Given the description of an element on the screen output the (x, y) to click on. 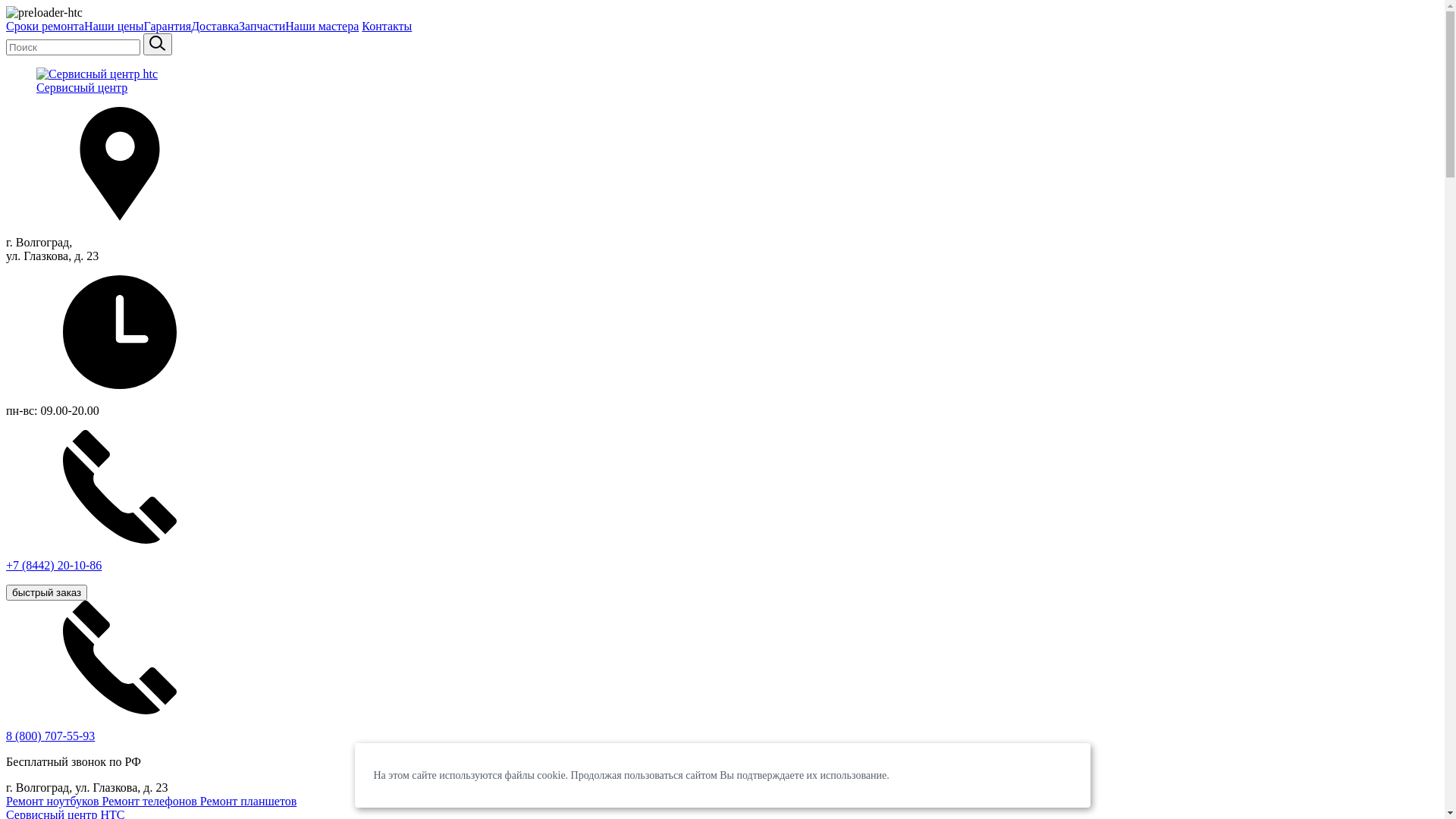
+7 (8442) 20-10-86 Element type: text (722, 513)
8 (800) 707-55-93 Element type: text (50, 735)
sisea.search Element type: text (157, 44)
